Given the description of an element on the screen output the (x, y) to click on. 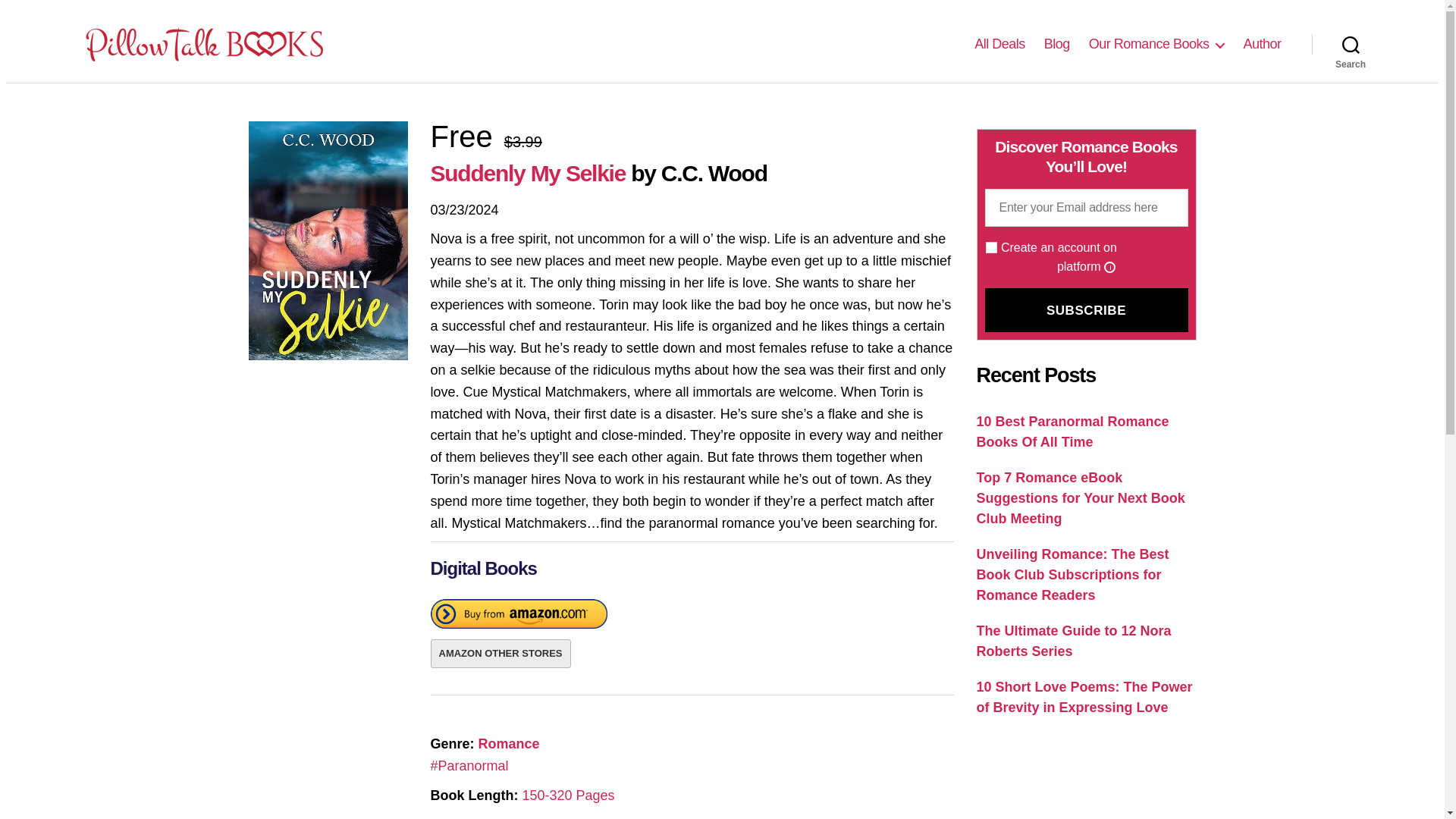
Blog (1056, 44)
true (991, 247)
Our Romance Books (1156, 44)
Author (1262, 44)
Search (1350, 43)
Amazon (518, 616)
All Deals (999, 44)
Subscribe (1086, 310)
